Given the description of an element on the screen output the (x, y) to click on. 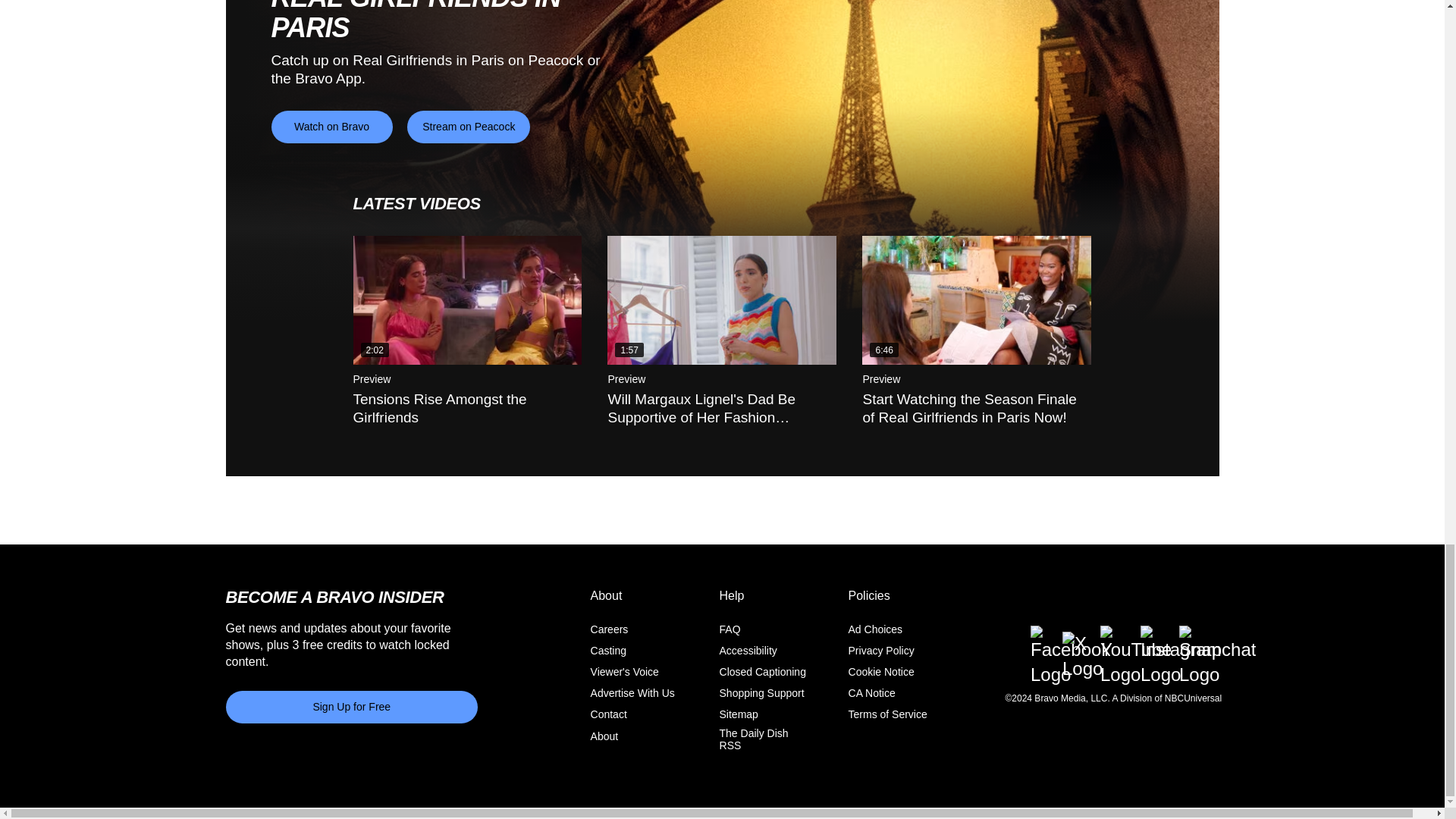
Tensions Rise Amongst the Girlfriends (467, 299)
Advertise With Us (633, 693)
